Given the description of an element on the screen output the (x, y) to click on. 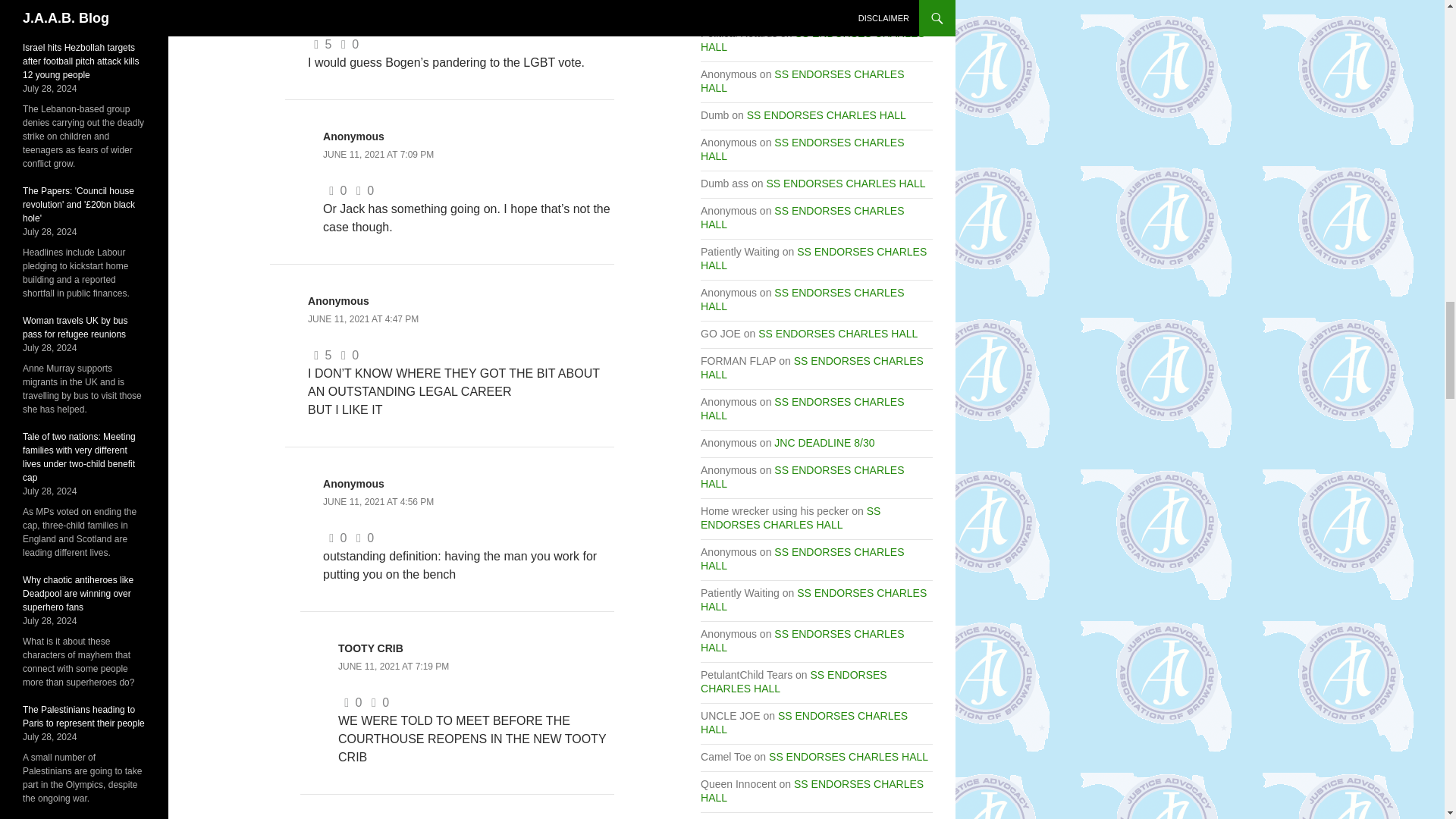
JUNE 11, 2021 AT 7:19 PM (392, 665)
JUNE 11, 2021 AT 7:09 PM (378, 154)
JUNE 11, 2021 AT 4:56 PM (378, 501)
JUNE 11, 2021 AT 4:47 PM (363, 318)
JUNE 11, 2021 AT 3:27 PM (363, 8)
